Given the description of an element on the screen output the (x, y) to click on. 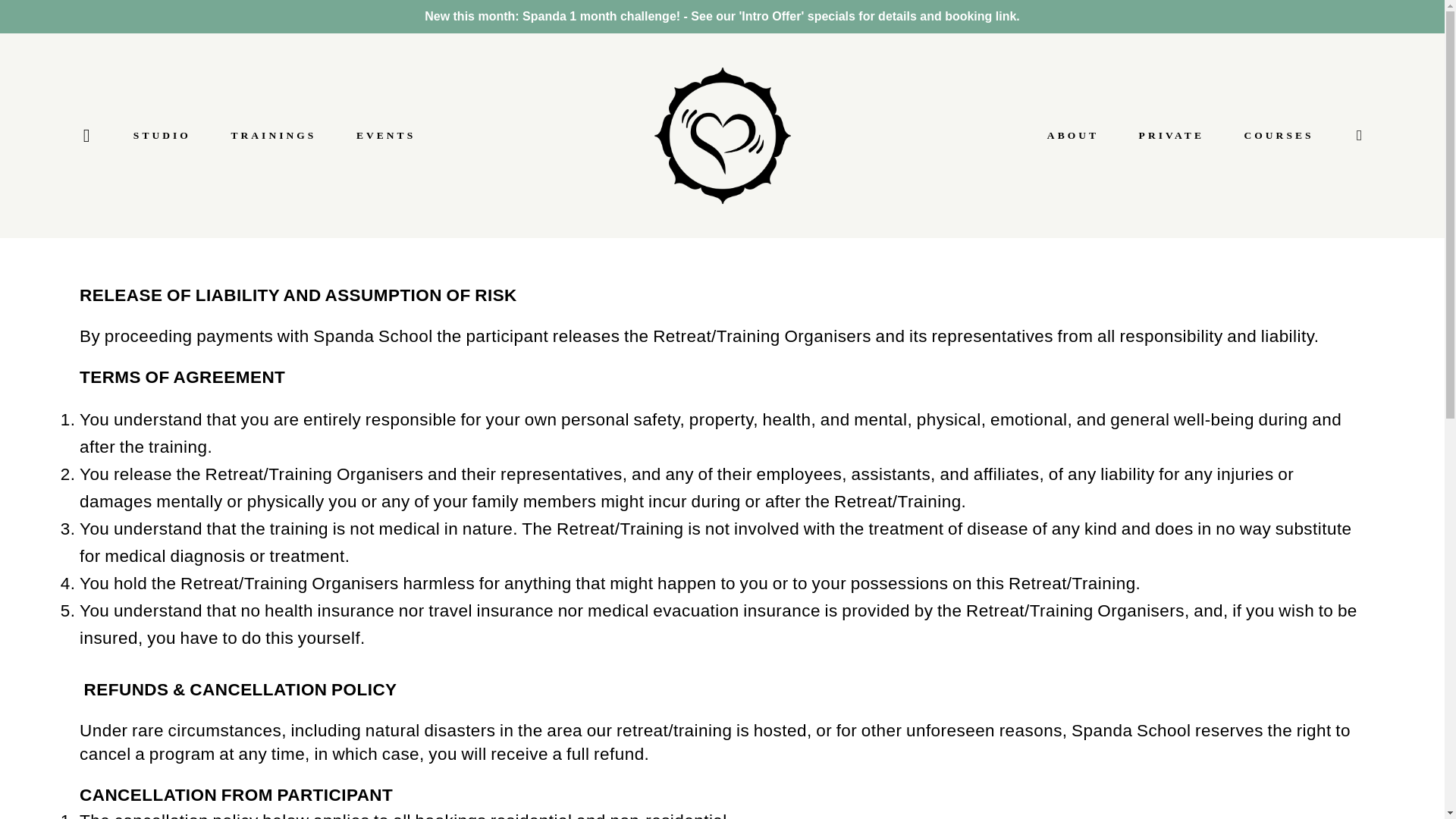
TRAININGS (272, 135)
STUDIO (161, 135)
EVENTS (385, 135)
ABOUT (1072, 135)
